Given the description of an element on the screen output the (x, y) to click on. 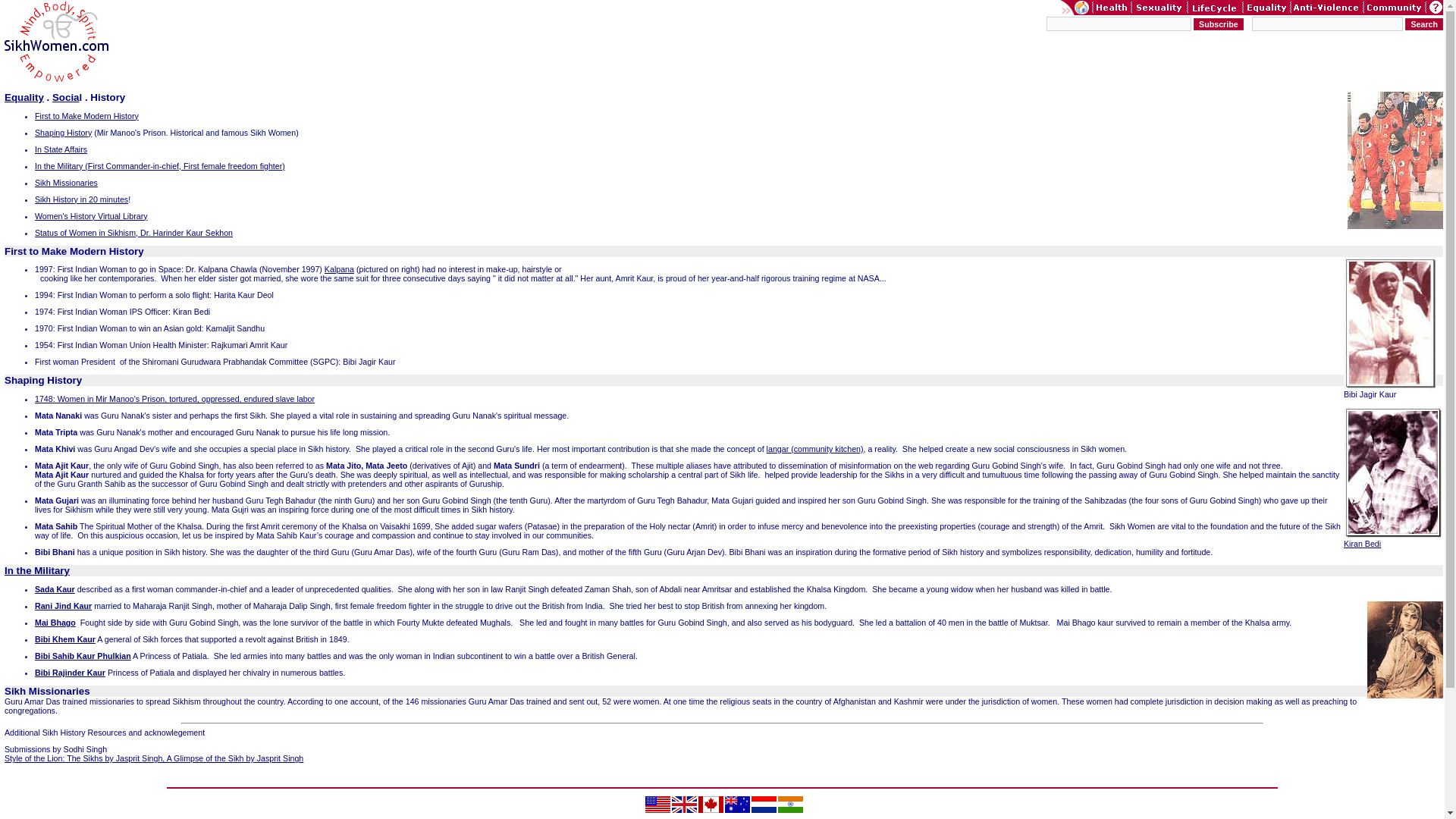
Subscribe (1218, 24)
Bibi Khem Kaur (65, 638)
First to Make Modern History (86, 115)
Kalpana (338, 268)
Equality (23, 97)
Additional Sikh History Resources and acknowlegement (104, 732)
Sikh History in 20 minutes (81, 198)
Sada Kaur (54, 588)
In State Affairs (60, 148)
Shaping History (42, 379)
Kiran Bedi (1361, 542)
Socia (66, 97)
Subscribe (1218, 24)
